Given the description of an element on the screen output the (x, y) to click on. 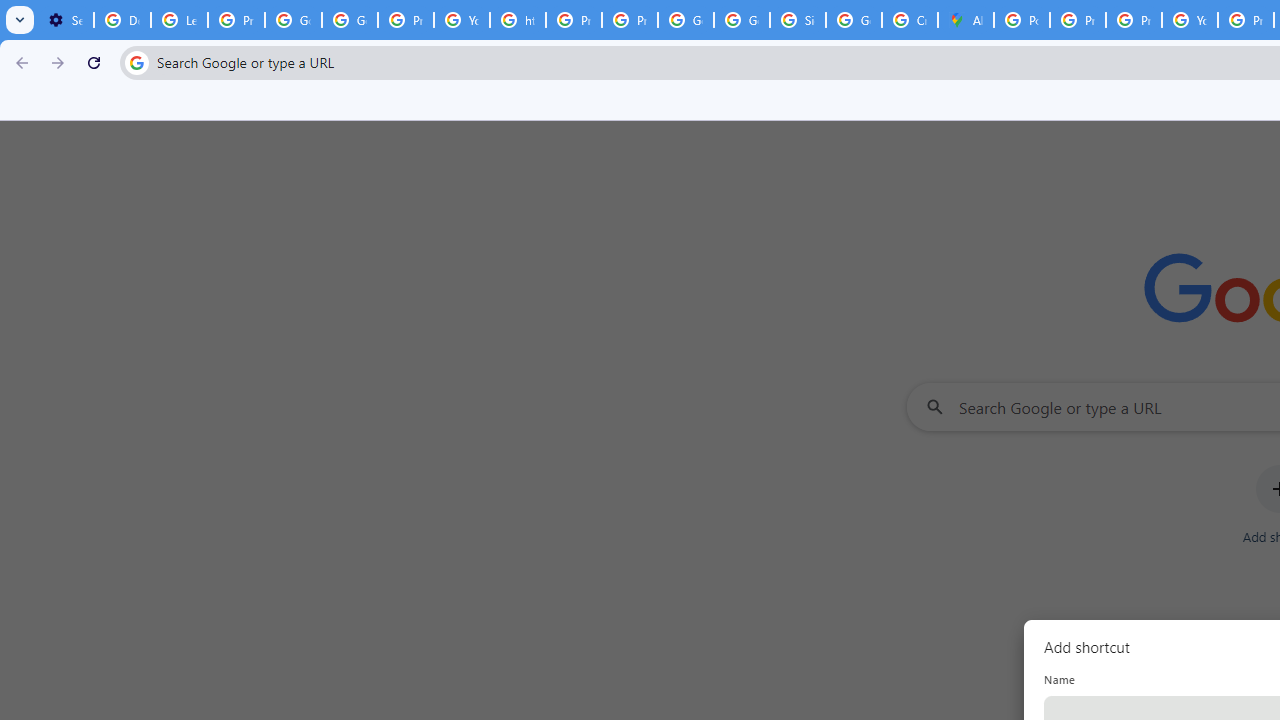
Delete photos & videos - Computer - Google Photos Help (122, 20)
YouTube (1190, 20)
Policy Accountability and Transparency - Transparency Center (1021, 20)
Google Account Help (293, 20)
Settings - On startup (65, 20)
YouTube (461, 20)
Privacy Help Center - Policies Help (1077, 20)
